Given the description of an element on the screen output the (x, y) to click on. 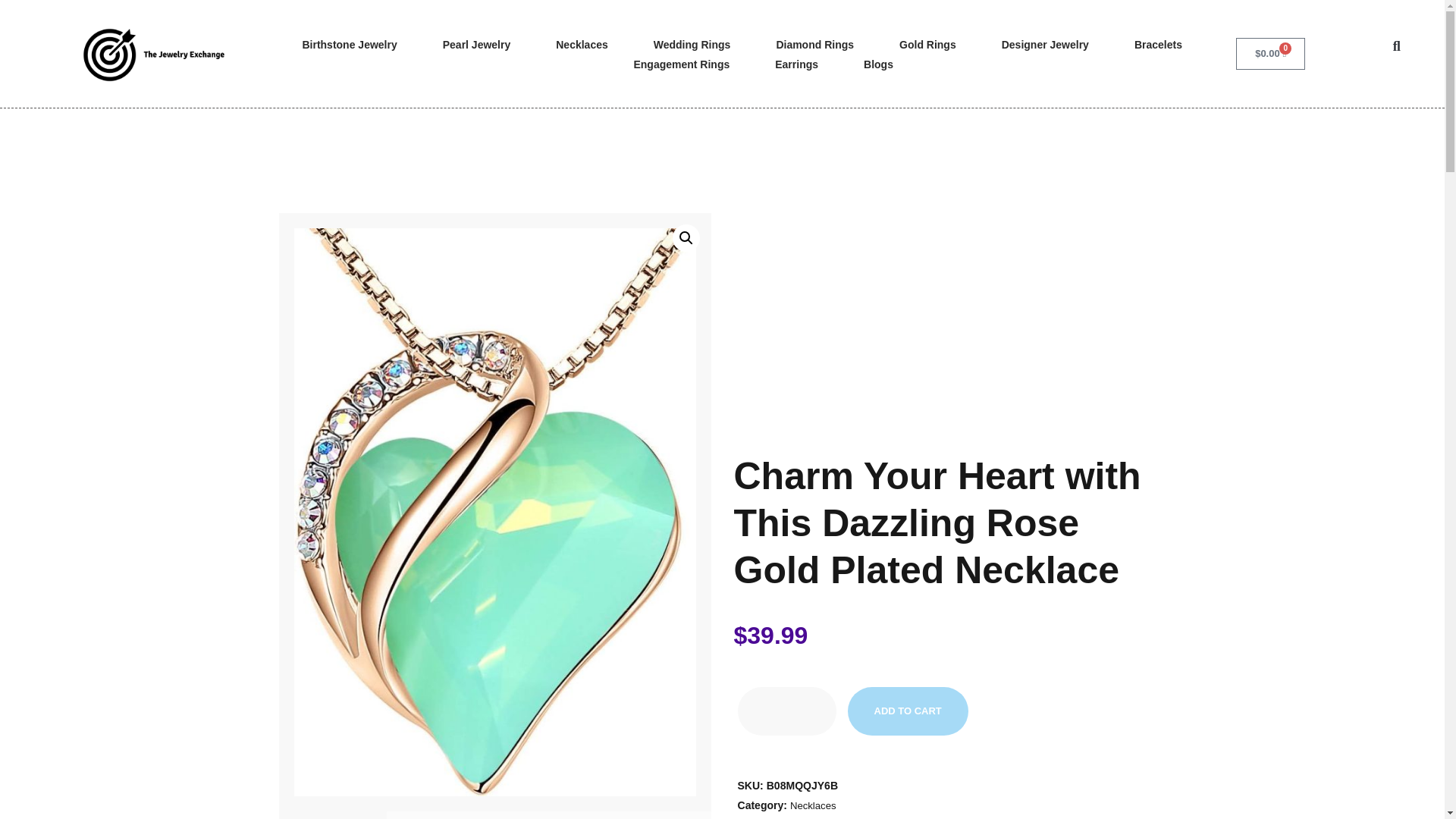
Birthstone Jewelry (348, 44)
Wedding Rings (692, 44)
Blogs (878, 64)
ADD TO CART (907, 711)
Designer Jewelry (1045, 44)
Engagement Rings (680, 64)
Earrings (796, 64)
Necklaces (812, 805)
Gold Rings (928, 44)
Pearl Jewelry (476, 44)
